Given the description of an element on the screen output the (x, y) to click on. 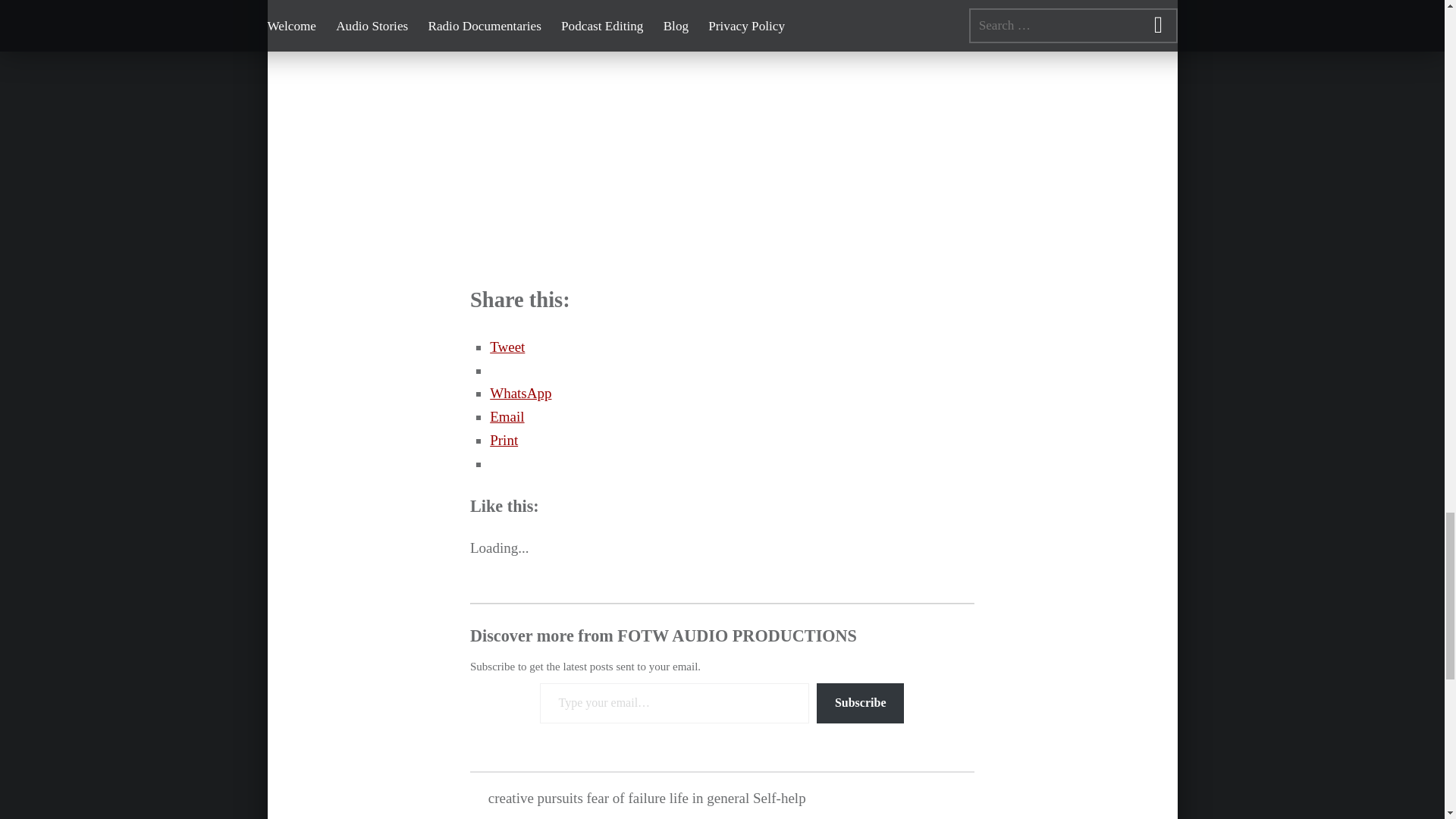
Click to email a link to a friend (506, 416)
life in general (709, 797)
Tweet (506, 346)
Click to share on WhatsApp (520, 392)
Subscribe (860, 703)
Email (506, 416)
fear of failure (625, 797)
Please fill in this field. (674, 703)
Self-help (779, 797)
Click to print (503, 439)
